Given the description of an element on the screen output the (x, y) to click on. 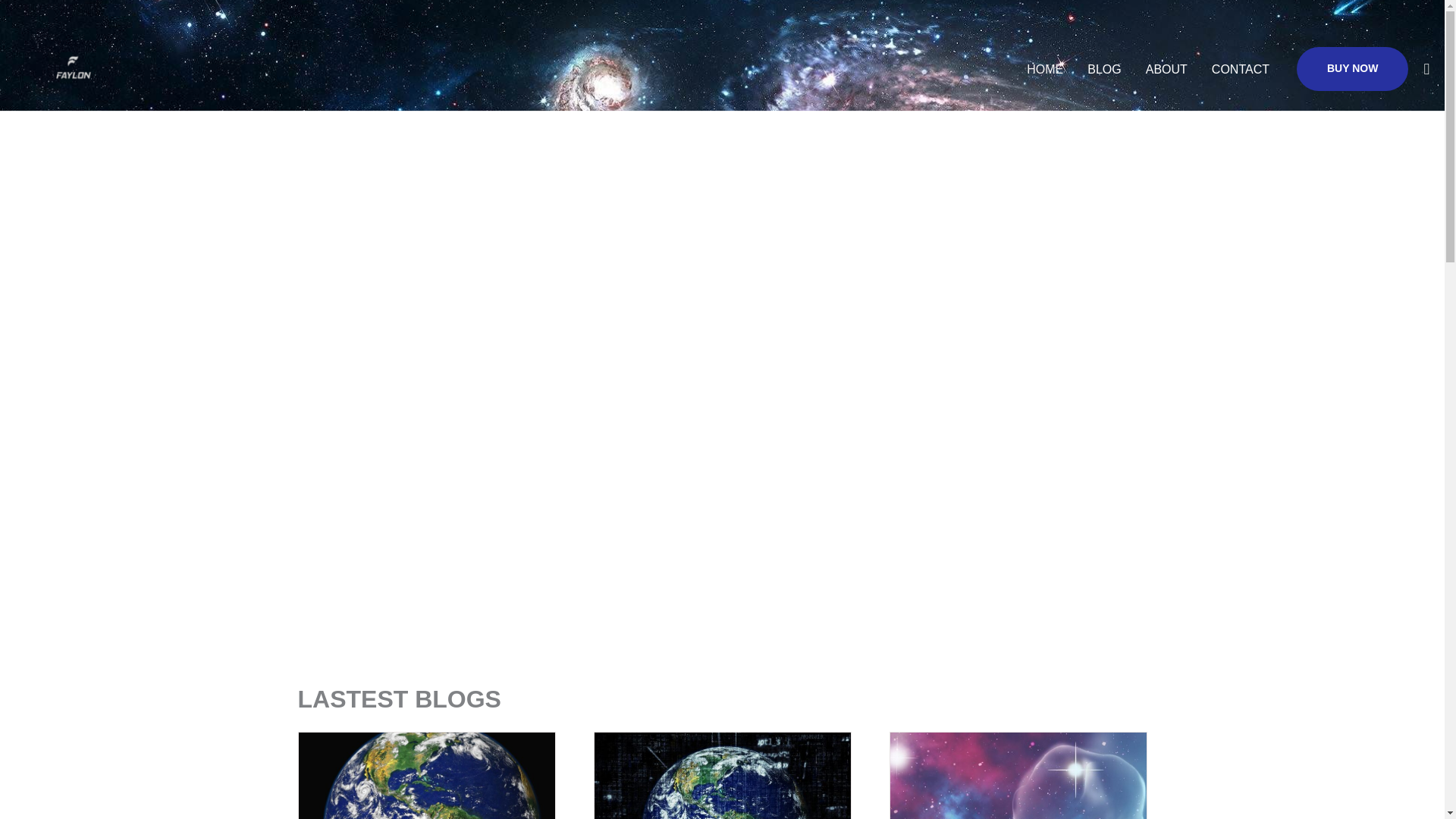
HOME (1044, 68)
CONTACT (1240, 68)
BUY NOW (1352, 68)
BLOG (1103, 68)
ABOUT (1166, 68)
